Given the description of an element on the screen output the (x, y) to click on. 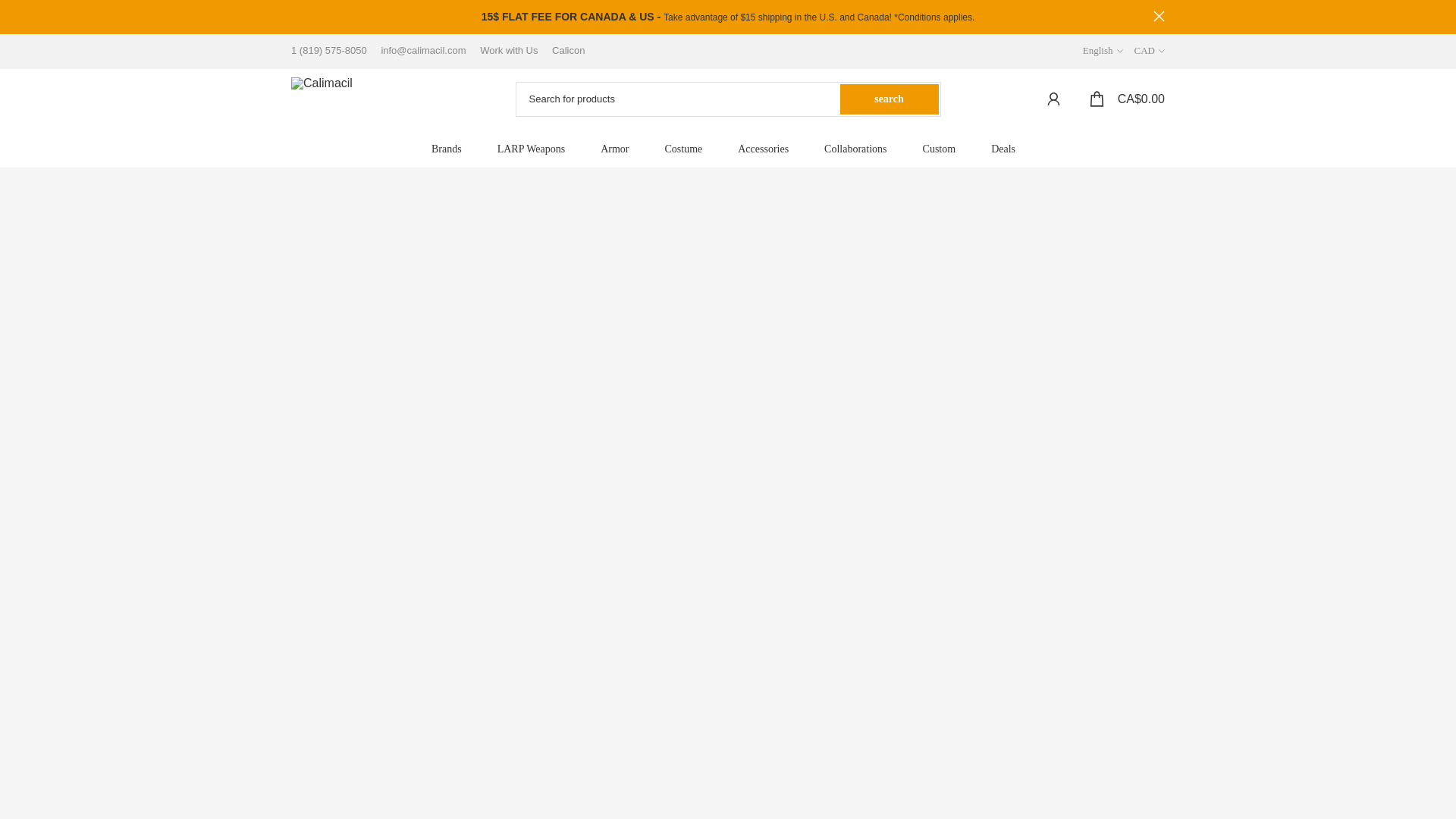
Custom (943, 149)
Deals (1008, 149)
Collaborations (859, 149)
close (1158, 16)
Brands (450, 149)
Skip to content (10, 7)
Accessories (767, 149)
Work with Us (504, 50)
search (889, 99)
Calicon (562, 50)
LARP Weapons (534, 149)
English (1102, 50)
Costume (687, 149)
Armor (619, 149)
CAD (1149, 50)
